Given the description of an element on the screen output the (x, y) to click on. 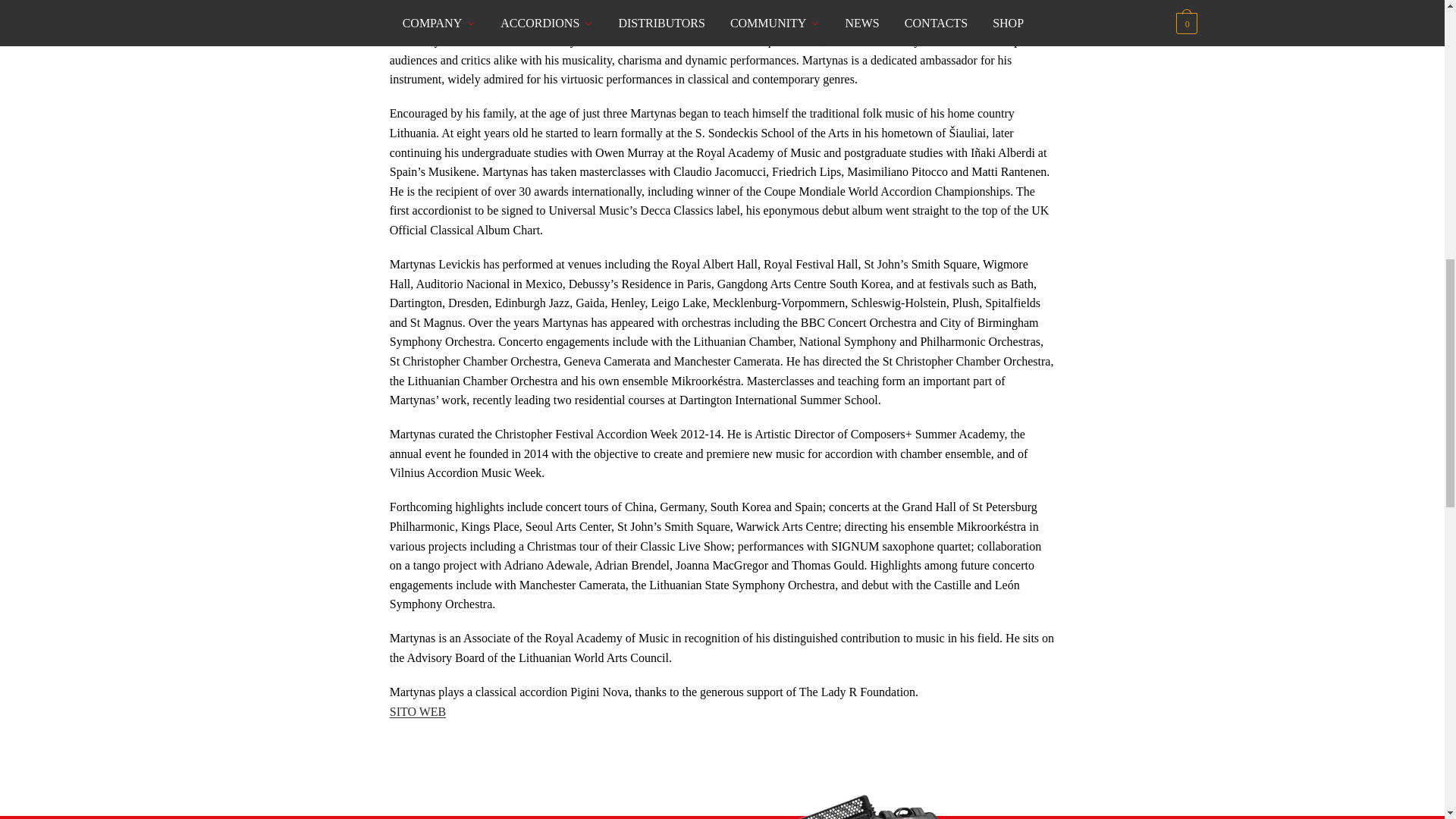
SITO WEB (418, 711)
